Given the description of an element on the screen output the (x, y) to click on. 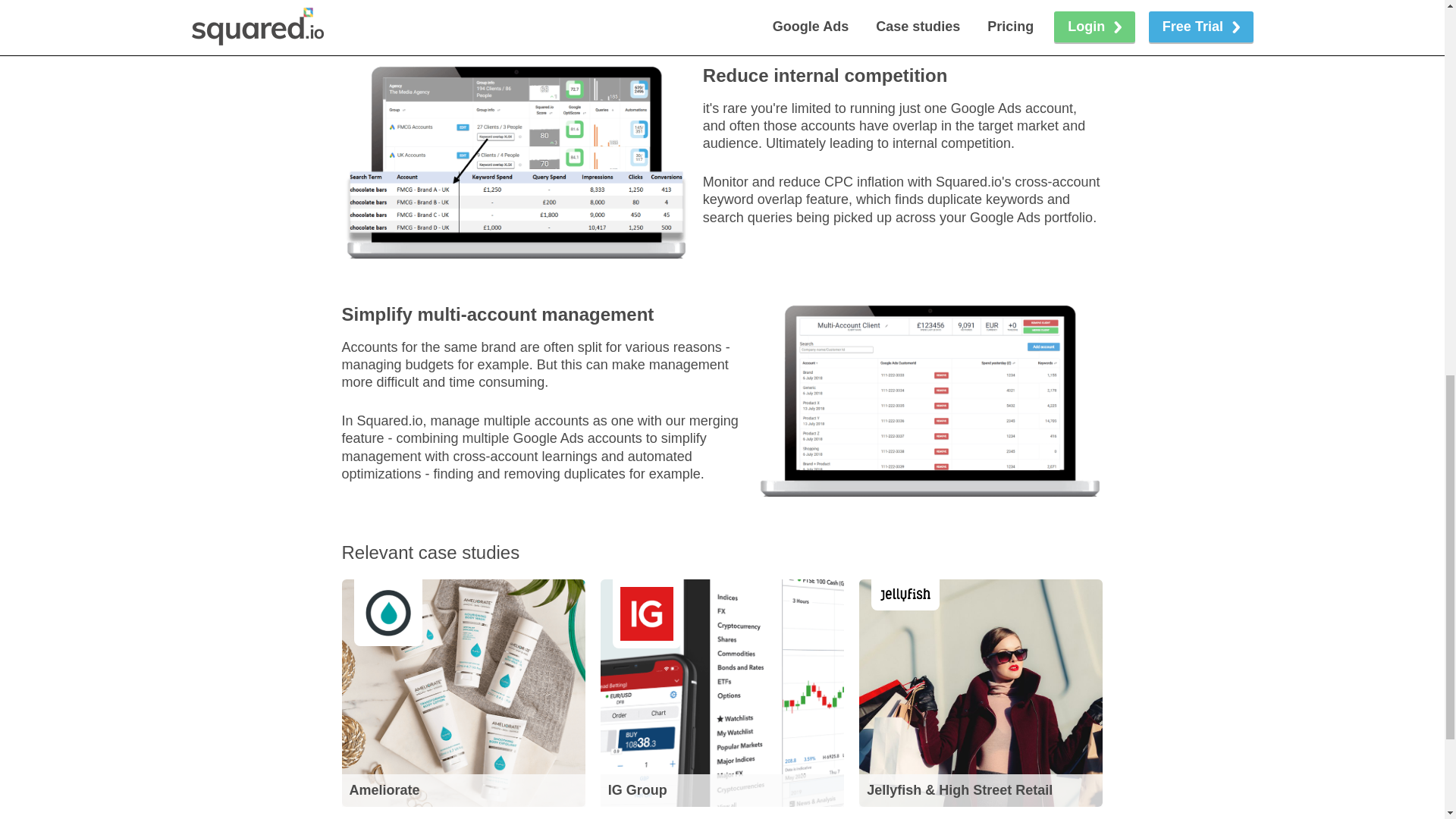
IG Group (721, 692)
Ameliorate (462, 692)
